Given the description of an element on the screen output the (x, y) to click on. 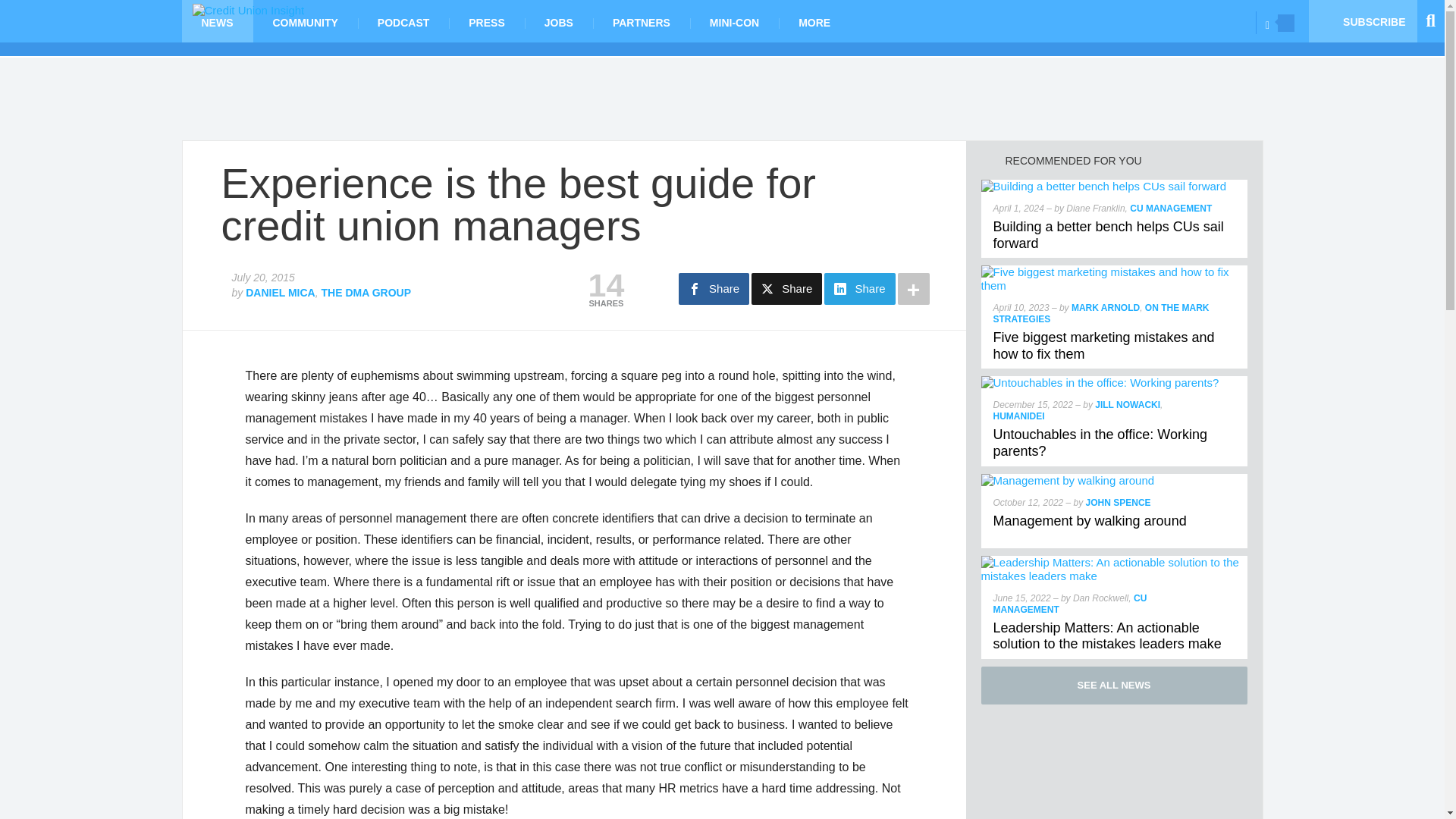
Share (786, 288)
DANIEL MICA (280, 292)
Building a better bench helps CUs sail forward (1108, 234)
PODCAST (403, 21)
Management by walking around (1067, 480)
MINI-CON (734, 21)
Share (859, 288)
THE DMA GROUP (365, 292)
NEWS (217, 21)
